Given the description of an element on the screen output the (x, y) to click on. 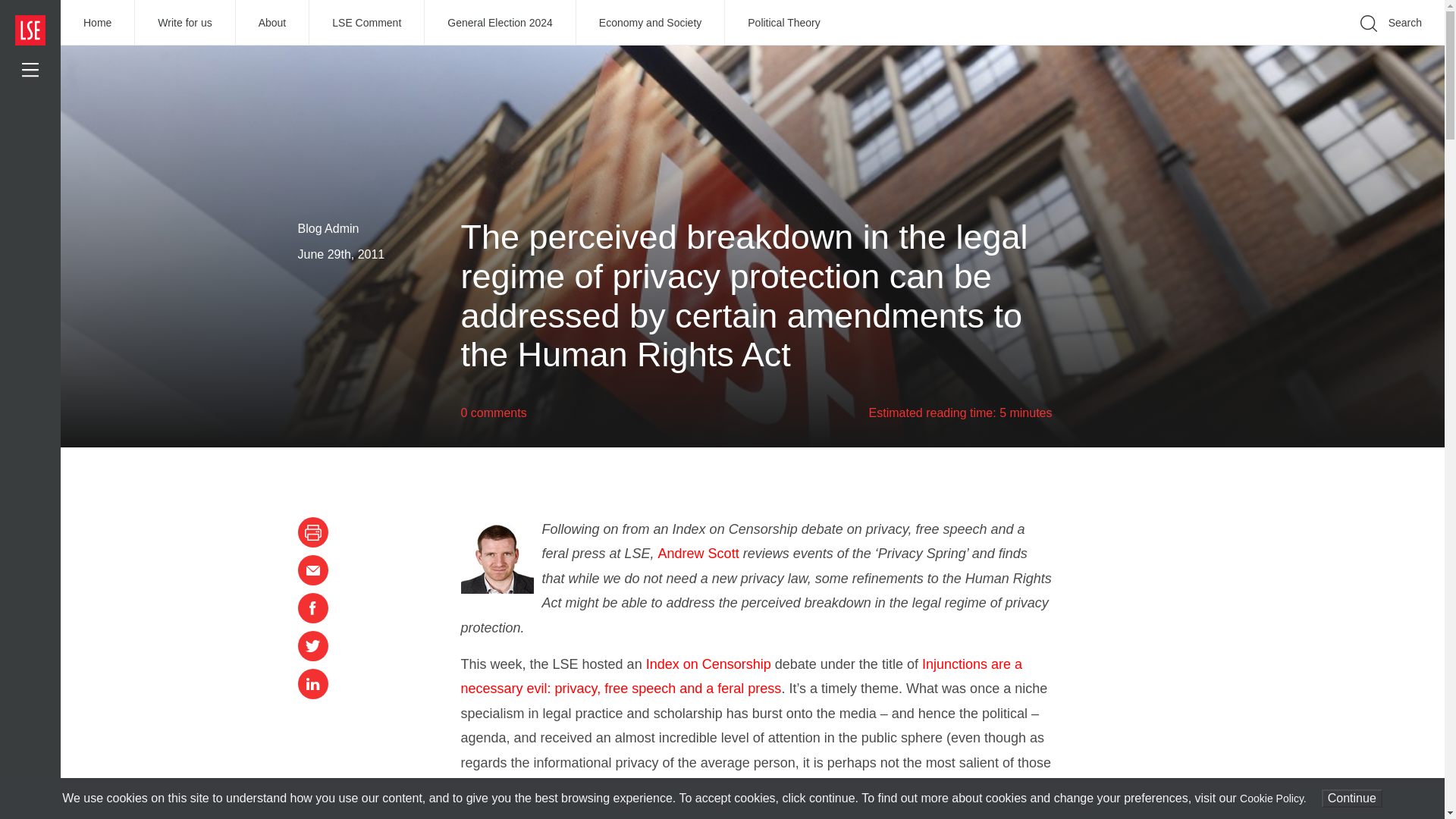
0 comments (494, 412)
Go (1190, 44)
the broader work of the Culture, Media and Sport Committee (745, 811)
Andrew Scott (700, 553)
LSE Comment (366, 22)
Index on Censorship (708, 663)
Political Theory (784, 22)
About (272, 22)
Home (98, 22)
Write for us (184, 22)
Economy and Society (650, 22)
General Election 2024 (500, 22)
the current issue of the IoC magazine (699, 786)
